Given the description of an element on the screen output the (x, y) to click on. 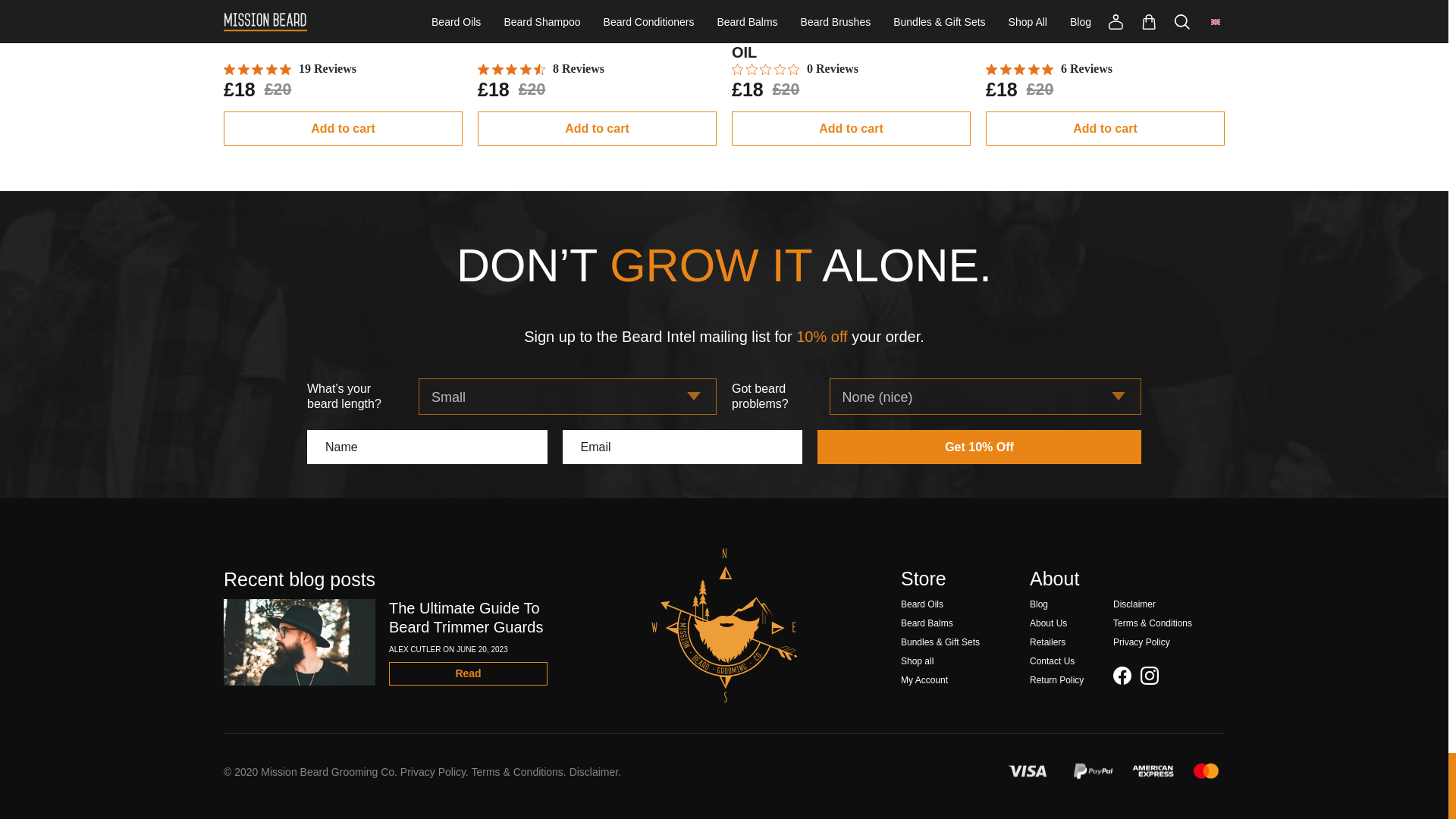
8 Reviews (540, 69)
UNDERDOG BEARD OIL (311, 33)
6 Reviews (1048, 69)
0 Reviews (795, 69)
TRUE NORTH BEARD OIL (571, 33)
19 Reviews (290, 69)
Add to cart (596, 128)
Add to cart (343, 128)
